Given the description of an element on the screen output the (x, y) to click on. 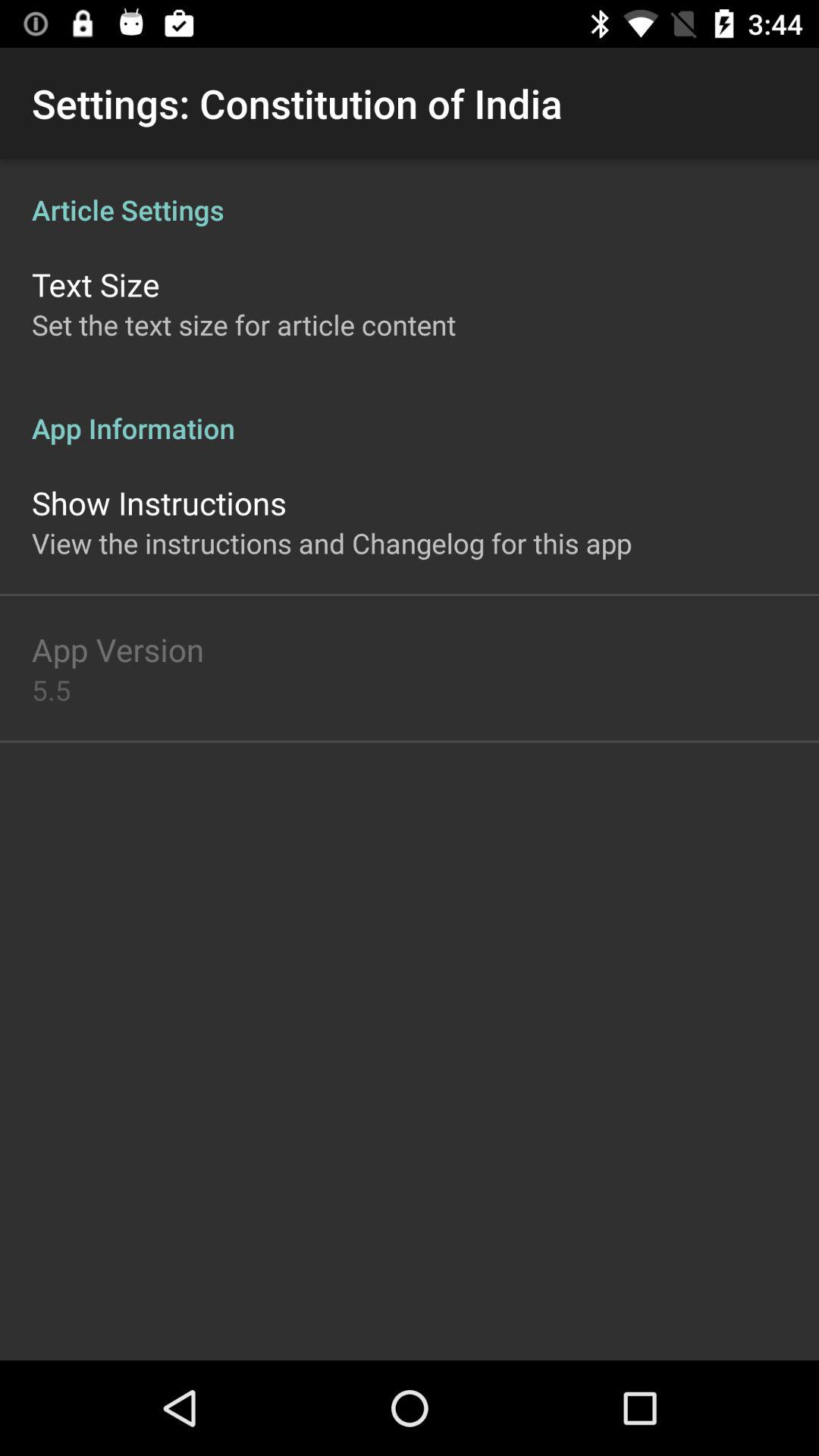
launch the icon below the app version item (51, 689)
